Given the description of an element on the screen output the (x, y) to click on. 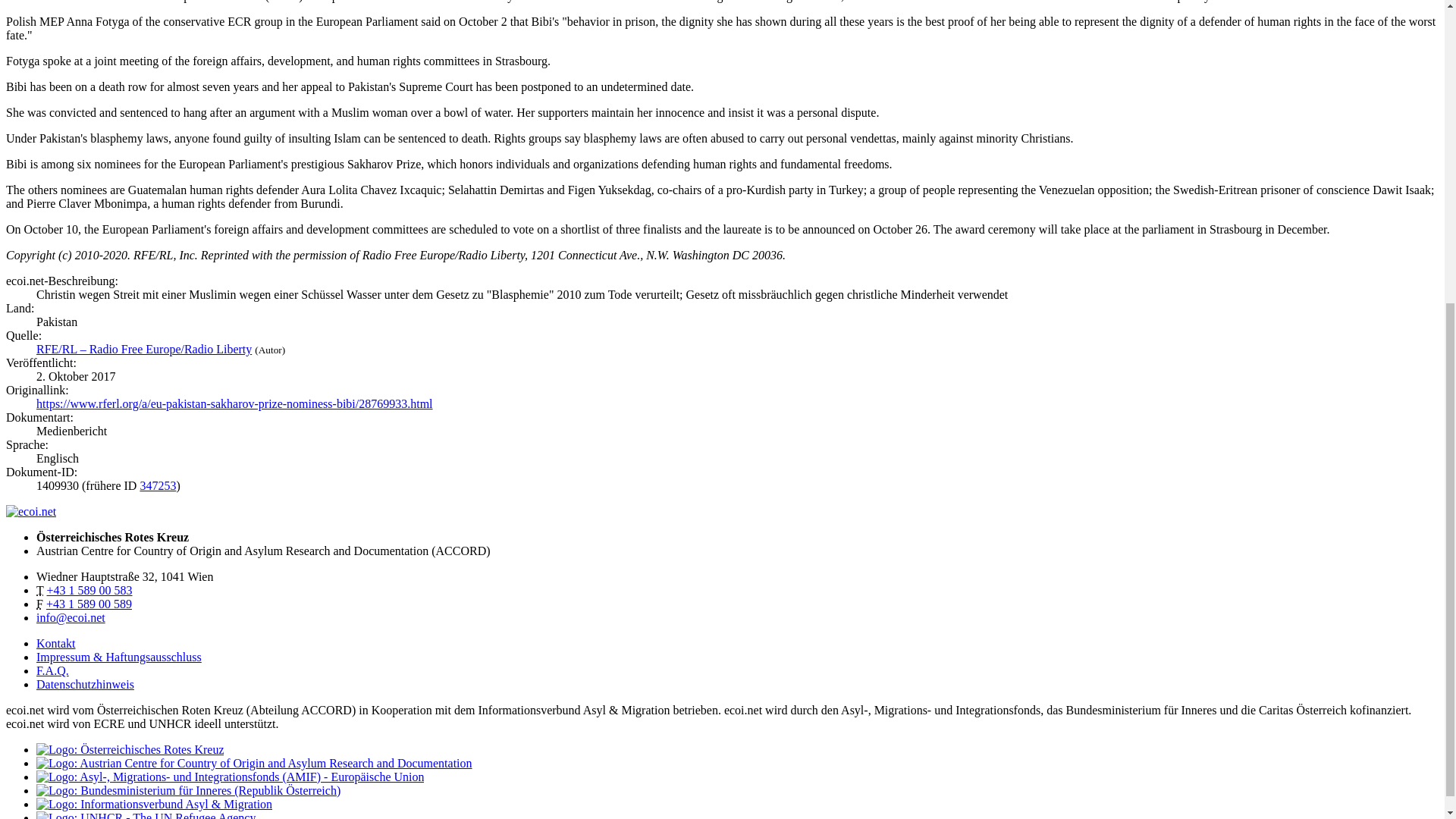
347253 (157, 485)
Quellenbeschreibung lesen (143, 349)
Telefon (89, 590)
Datenschutzhinweis (84, 684)
F.A.Q. (52, 670)
Fax (89, 603)
Kontakt (55, 643)
